Given the description of an element on the screen output the (x, y) to click on. 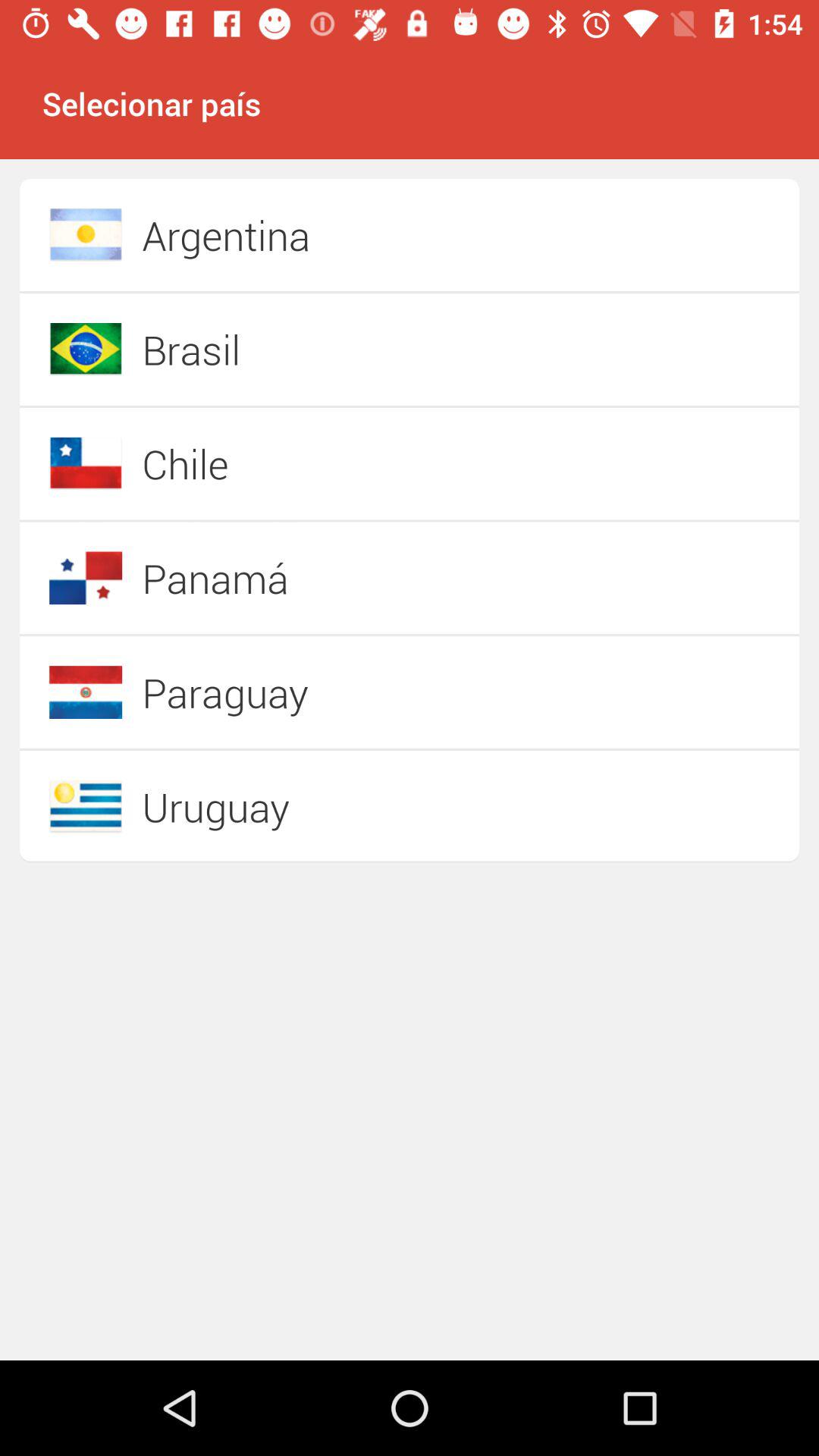
click icon above the brasil icon (356, 234)
